Given the description of an element on the screen output the (x, y) to click on. 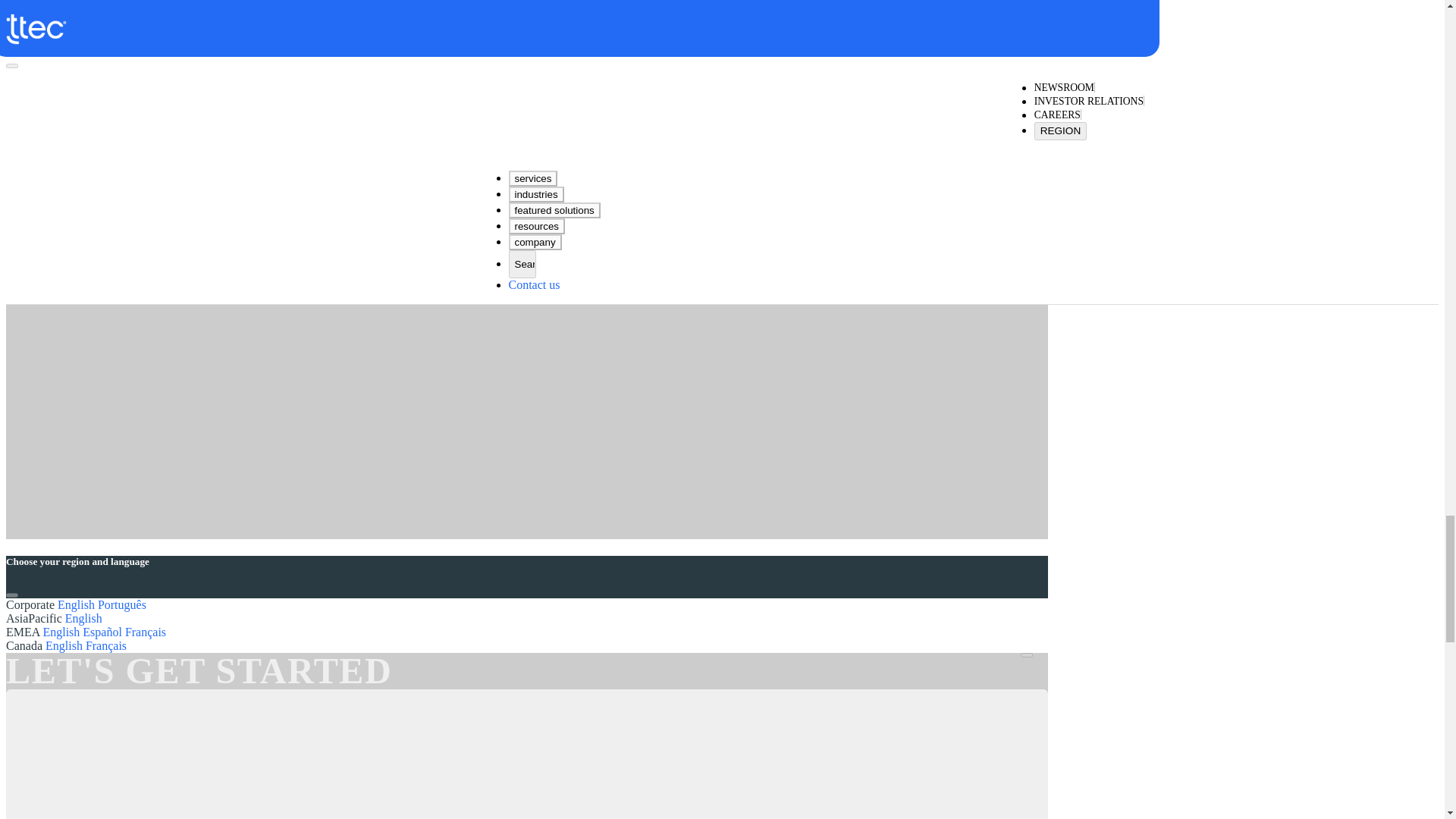
Complete this form to contact TTEC (526, 772)
